Given the description of an element on the screen output the (x, y) to click on. 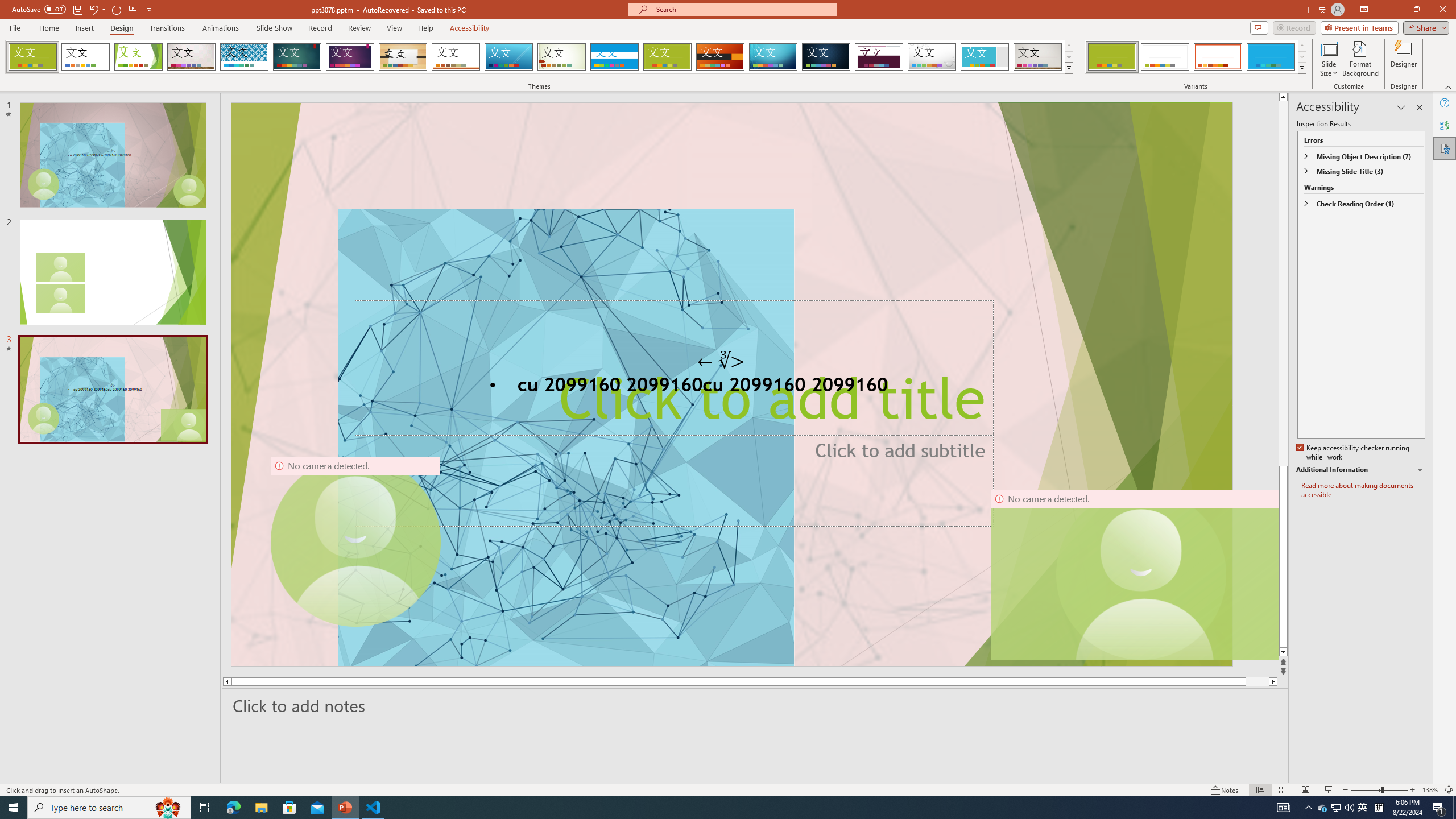
Slice (508, 56)
Banded (614, 56)
Ion Boardroom (350, 56)
Damask (826, 56)
Circuit (772, 56)
Slide Notes (755, 705)
Facet (138, 56)
Themes (1068, 67)
Dividend (879, 56)
Slide Size (1328, 58)
Keep accessibility checker running while I work (1353, 452)
